Given the description of an element on the screen output the (x, y) to click on. 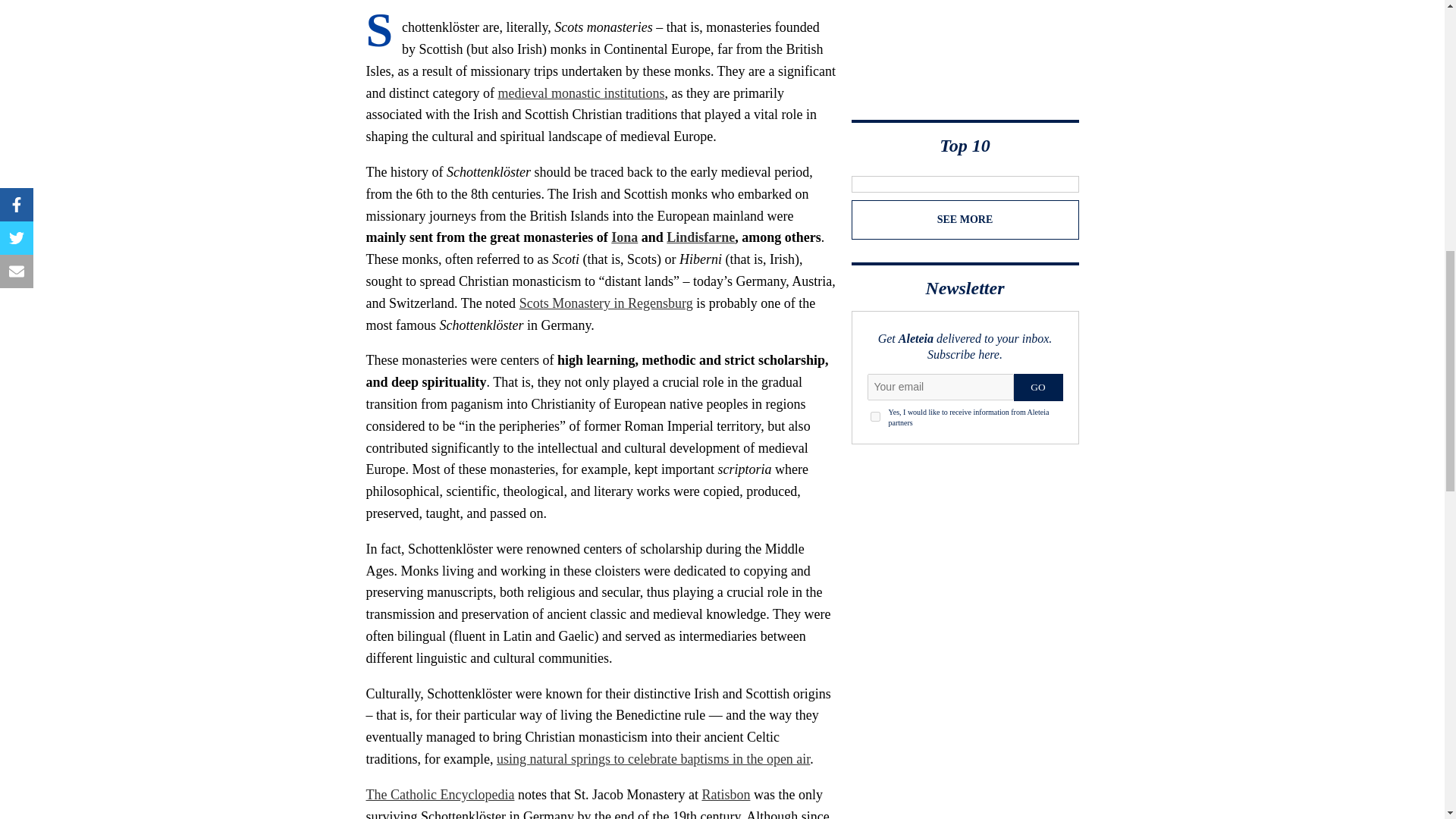
The Catholic Encyclopedia (439, 794)
1 (875, 416)
3rd party ad content (964, 52)
